Given the description of an element on the screen output the (x, y) to click on. 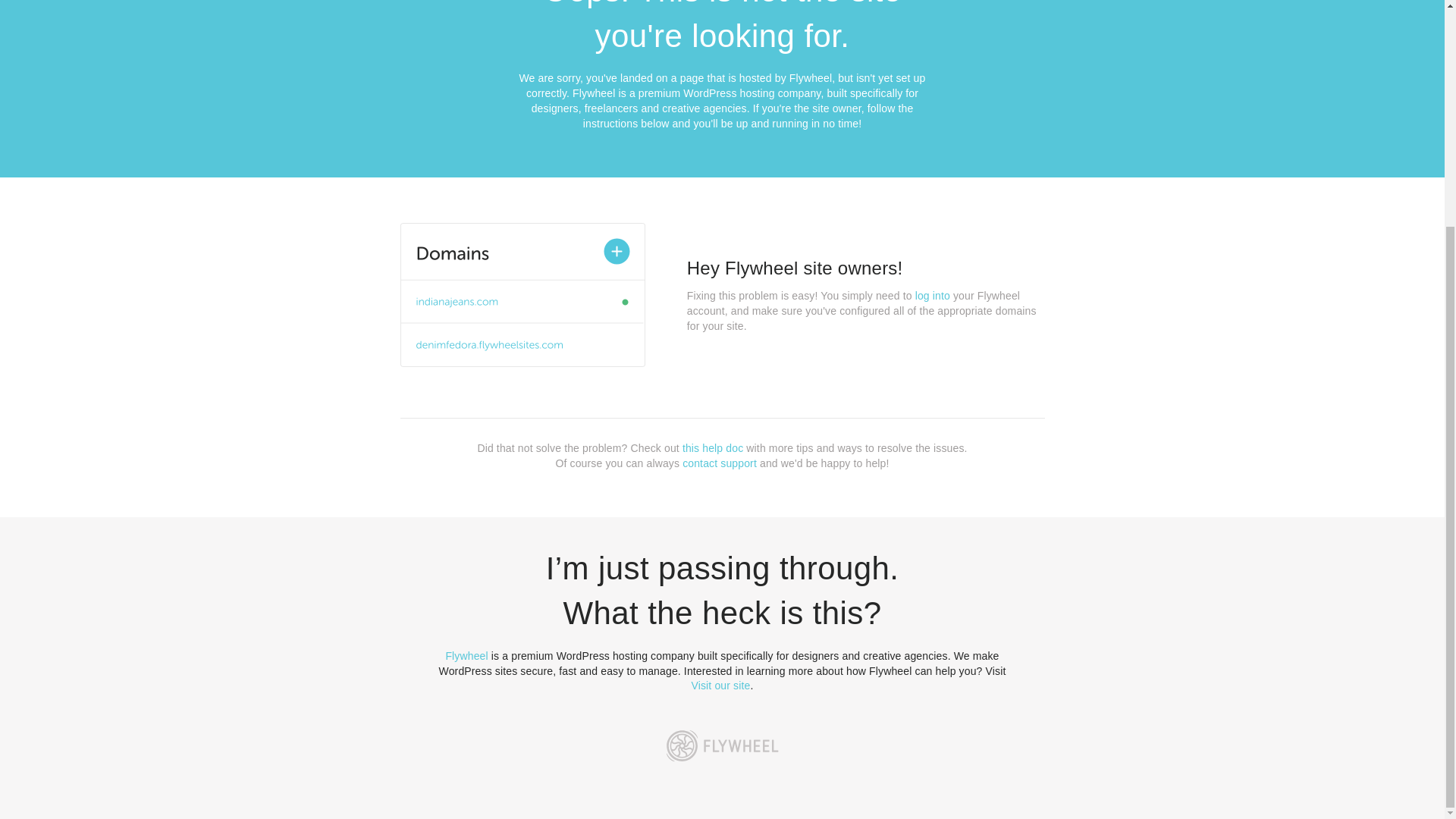
Visit our site (721, 685)
this help doc (712, 448)
Flywheel (466, 655)
log into (932, 295)
contact support (719, 463)
